Given the description of an element on the screen output the (x, y) to click on. 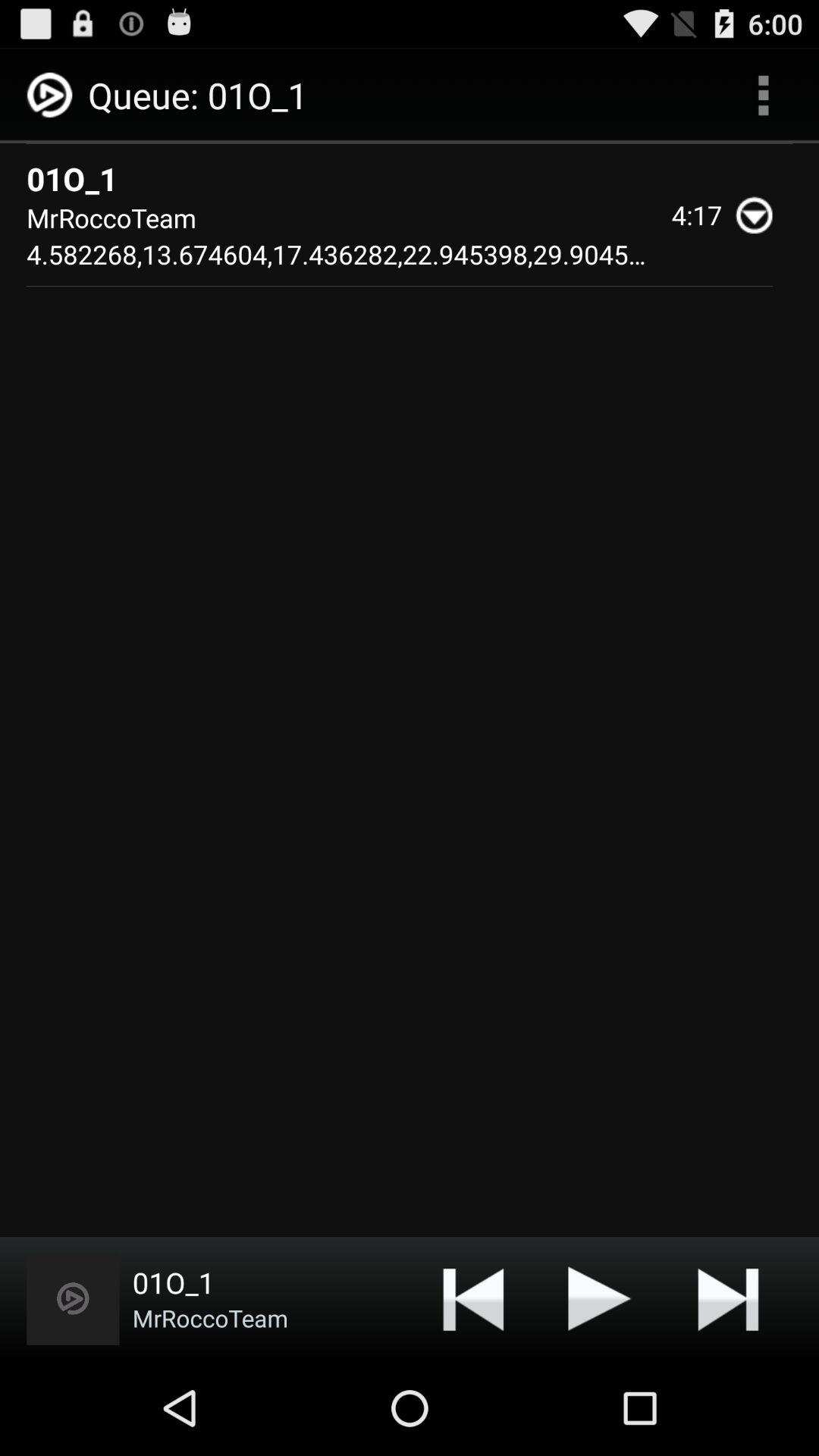
turn off app below the mrroccoteam 4 582268 (728, 1298)
